Given the description of an element on the screen output the (x, y) to click on. 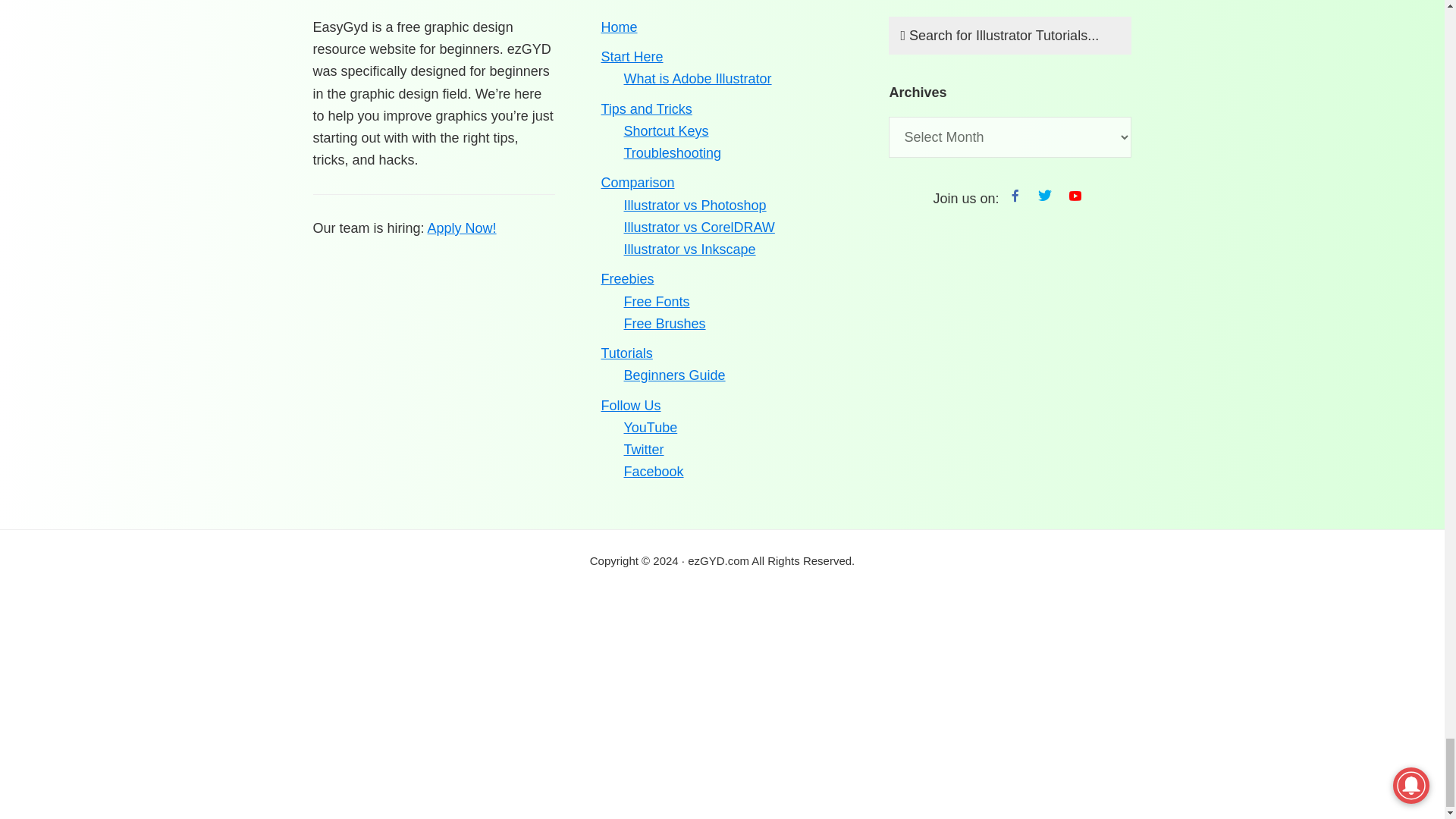
Apply Now to Join EZGyd (462, 227)
